Given the description of an element on the screen output the (x, y) to click on. 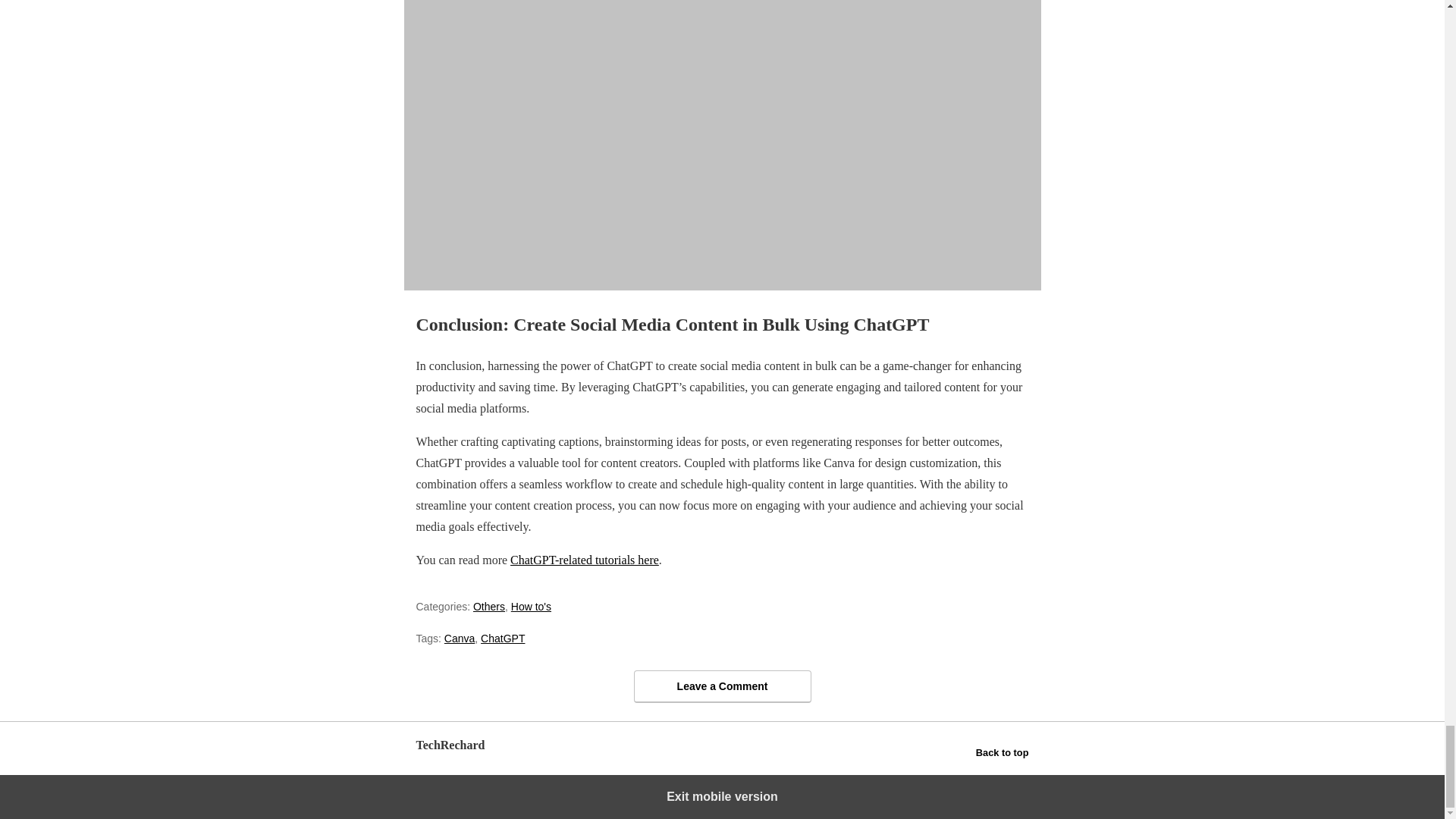
Others (489, 606)
ChatGPT-related tutorials here (585, 559)
Leave a Comment (721, 686)
Back to top (1002, 752)
Canva (459, 638)
ChatGPT (502, 638)
How to's (531, 606)
